Given the description of an element on the screen output the (x, y) to click on. 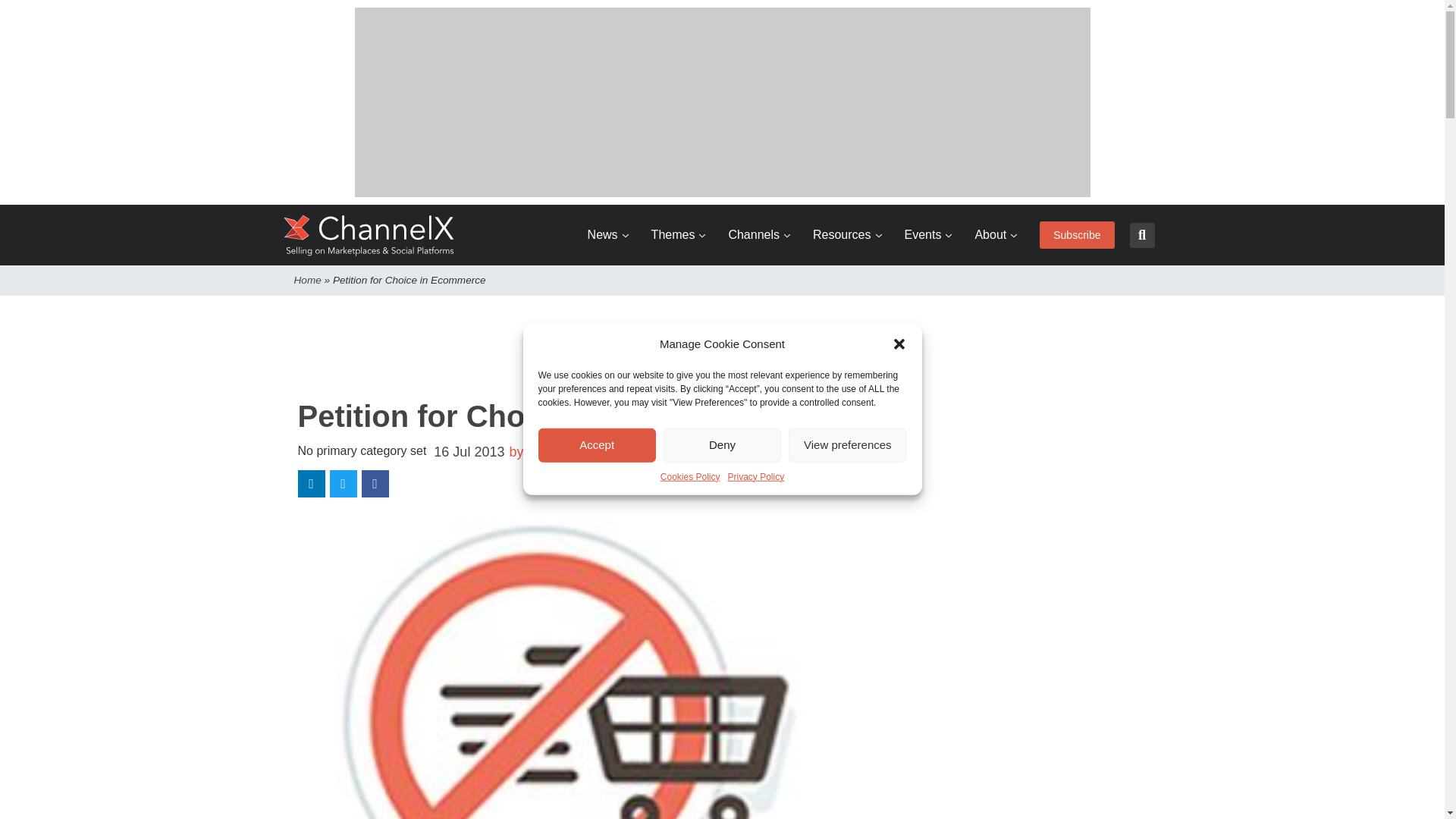
Privacy Policy (756, 476)
ChannelX Home Page (369, 234)
Channels (758, 234)
Cookies Policy (690, 476)
Accept (597, 444)
Deny (721, 444)
View preferences (847, 444)
Themes (678, 234)
News (607, 234)
